Given the description of an element on the screen output the (x, y) to click on. 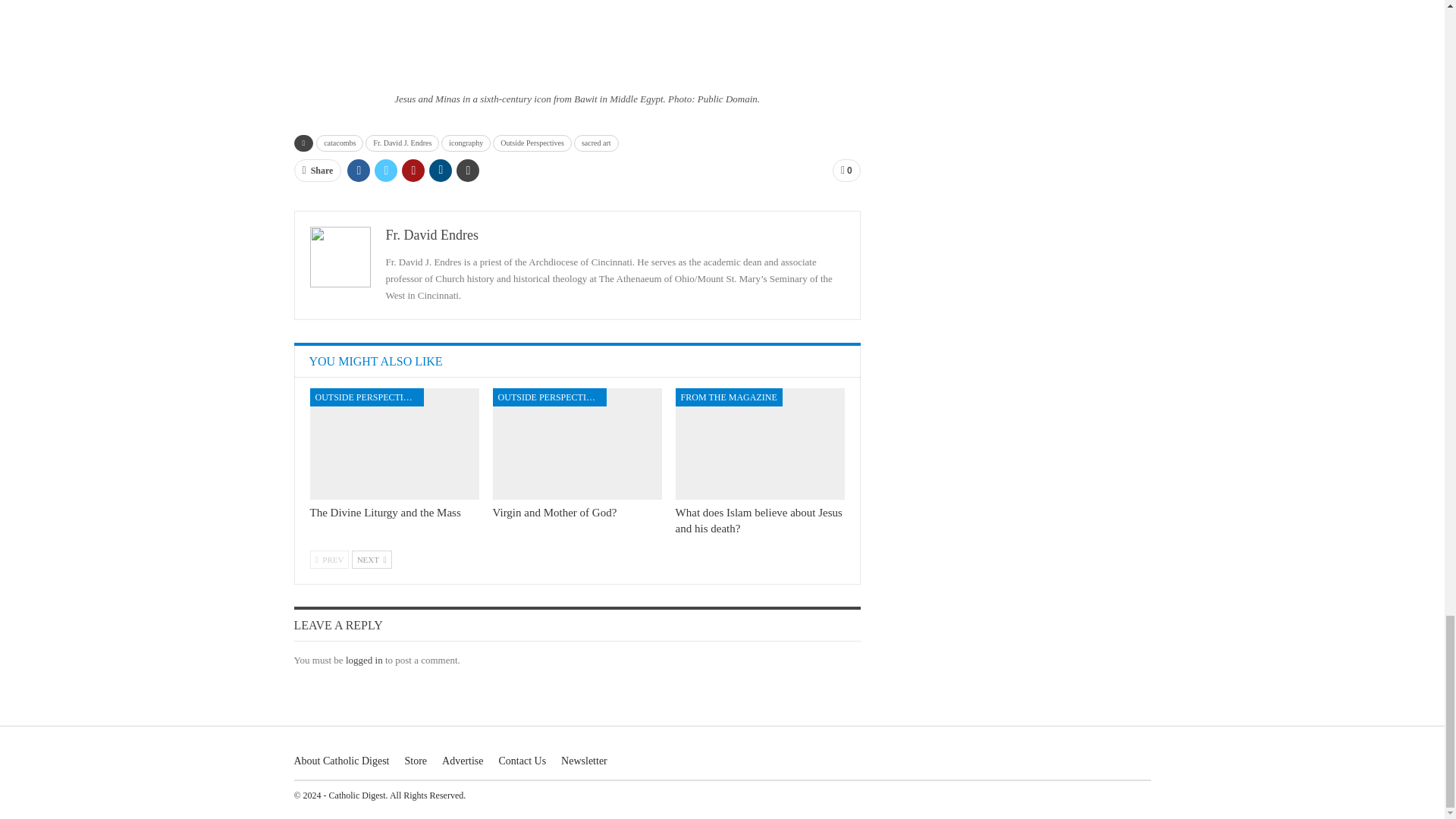
What does Islam believe about Jesus and his death? (759, 443)
Previous (328, 559)
The Divine Liturgy and the Mass (393, 443)
Next (371, 559)
Virgin and Mother of God? (577, 443)
